Given the description of an element on the screen output the (x, y) to click on. 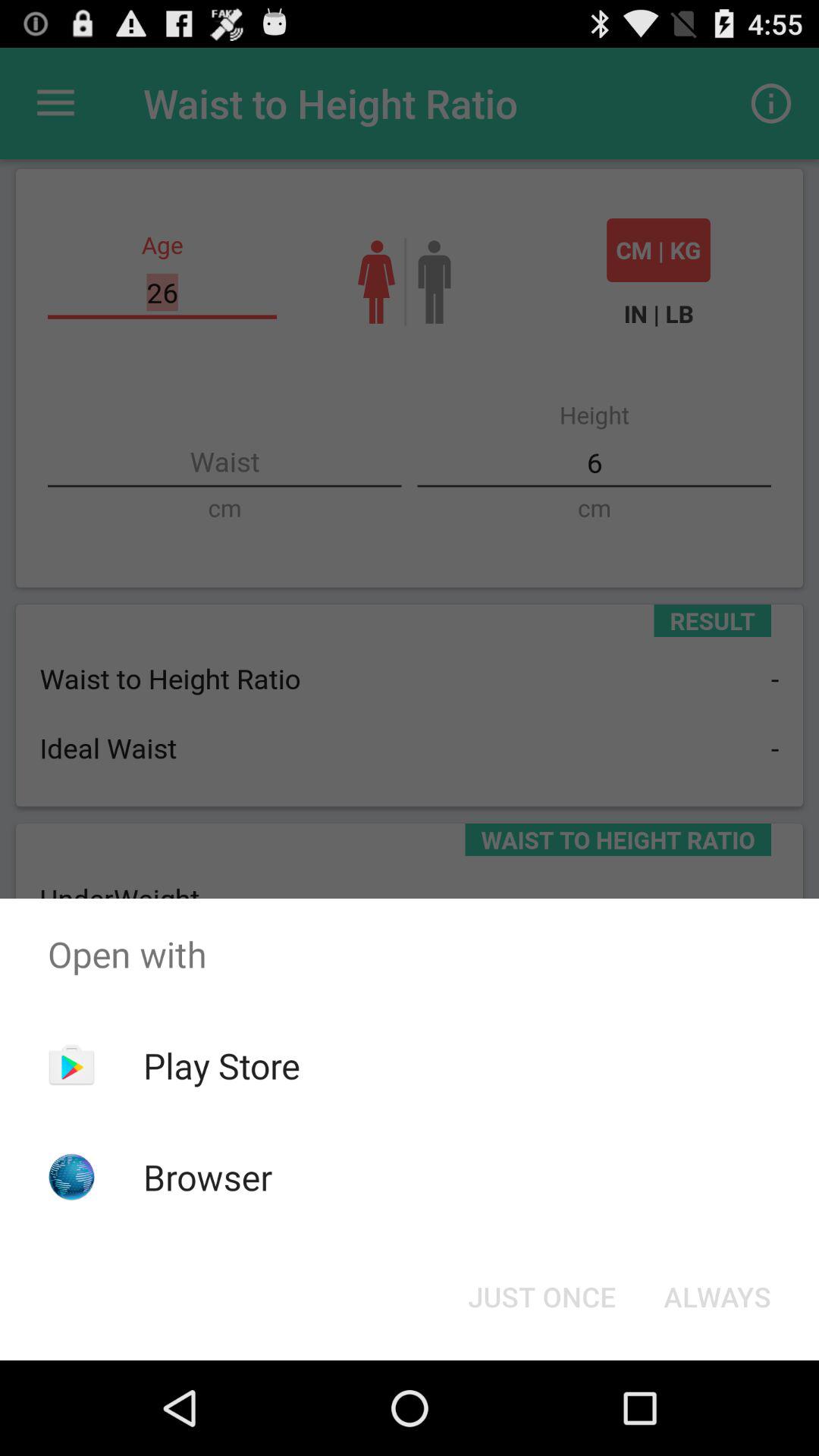
choose the button at the bottom right corner (717, 1296)
